Given the description of an element on the screen output the (x, y) to click on. 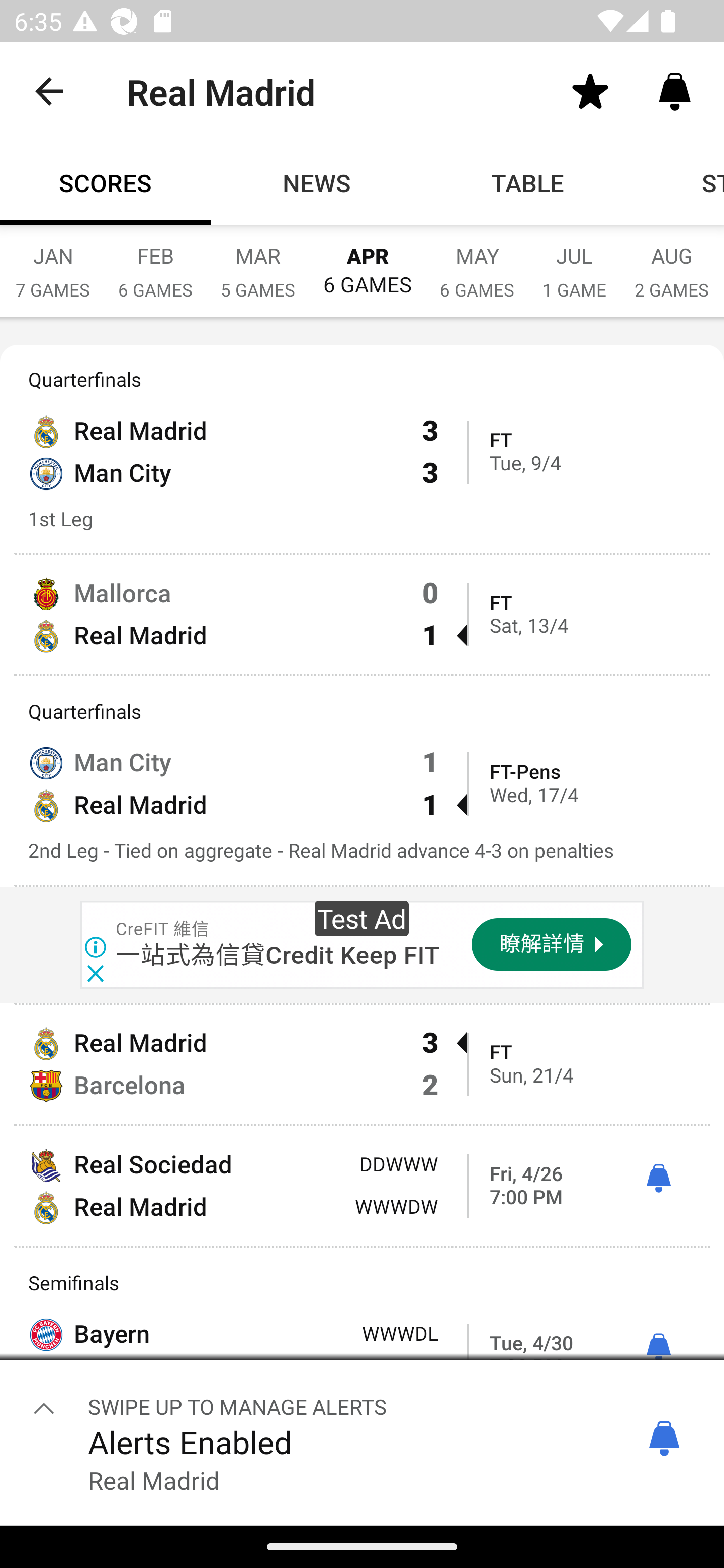
back.button (49, 90)
Favorite toggle (590, 90)
Alerts (674, 90)
News NEWS (316, 183)
Table TABLE (527, 183)
JAN 7 GAMES (52, 262)
FEB 6 GAMES (155, 262)
MAR 5 GAMES (257, 262)
APR 6 GAMES (367, 261)
MAY 6 GAMES (476, 262)
JUL 1 GAME (574, 262)
AUG 2 GAMES (671, 262)
Mallorca 0 Real Madrid 1  FT Sat, 13/4 (362, 614)
CreFIT 維信 (162, 929)
瞭解詳情 (551, 944)
一站式為信貸Credit Keep FIT (277, 954)
Real Madrid 3  Barcelona 2 FT Sun, 21/4 (362, 1064)
ì (658, 1178)
ì (658, 1348)
 (44, 1407)
